Given the description of an element on the screen output the (x, y) to click on. 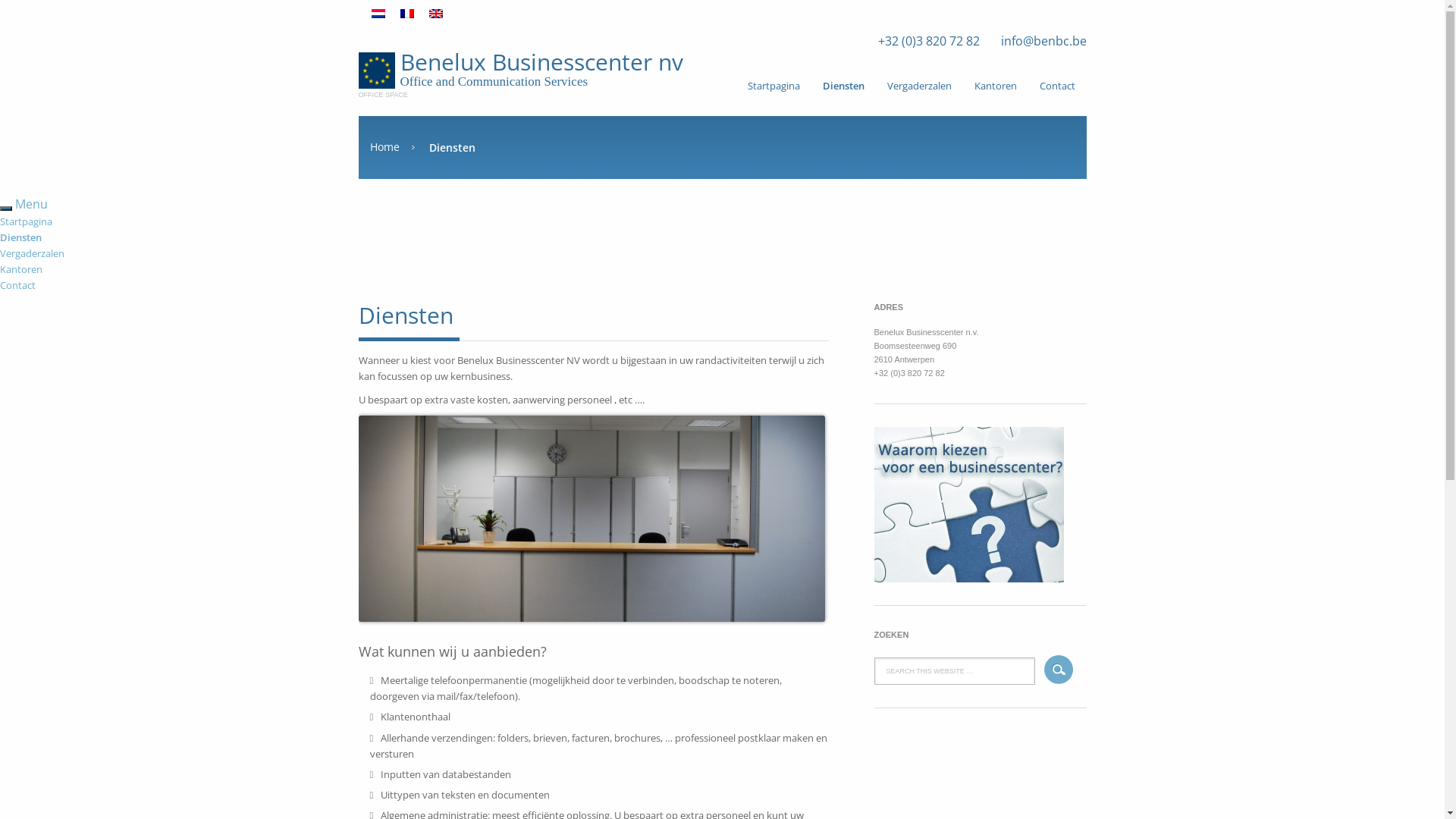
Contact Element type: text (17, 284)
Diensten Element type: text (843, 85)
Menu Element type: text (31, 203)
Home Element type: text (392, 146)
Vergaderzalen Element type: text (918, 85)
Vergaderzalen Element type: text (32, 253)
Diensten Element type: text (20, 237)
Startpagina Element type: text (26, 221)
Kantoren Element type: text (21, 269)
Kantoren Element type: text (995, 85)
Benelux Businesscenter nv
Office and Communication Services Element type: text (528, 69)
Startpagina Element type: text (772, 85)
Contact Element type: text (1057, 85)
